Given the description of an element on the screen output the (x, y) to click on. 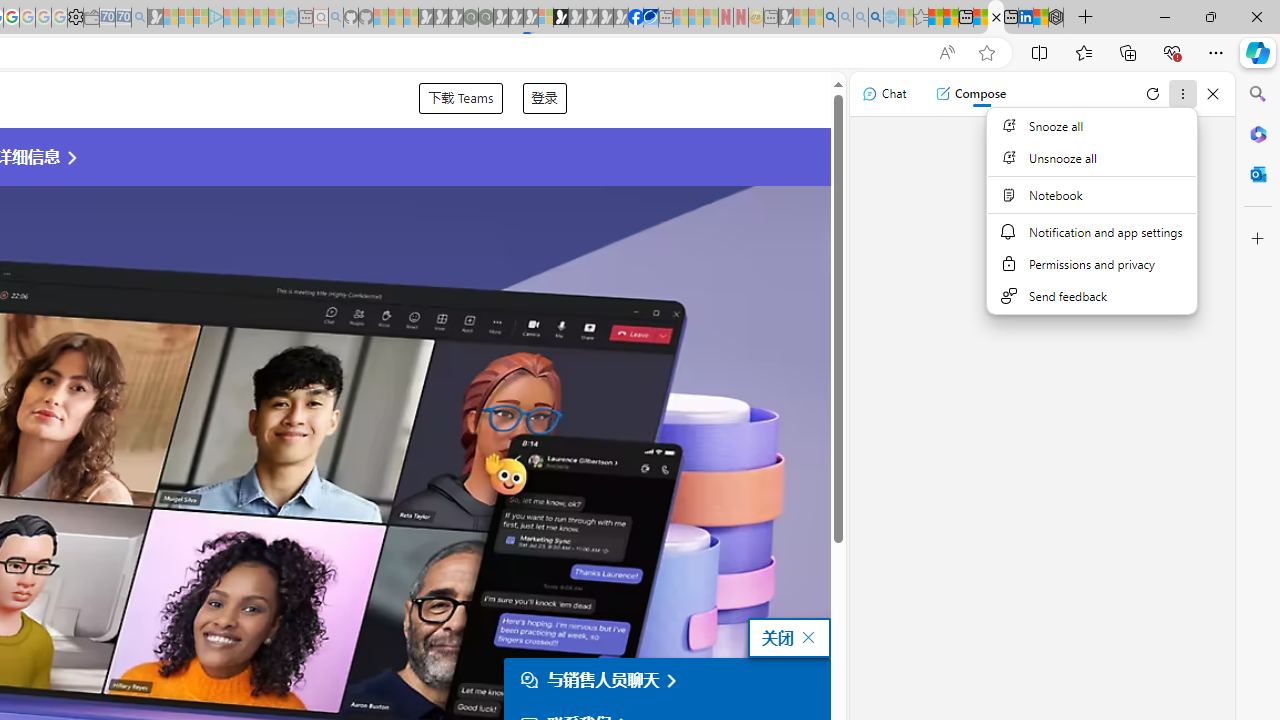
MSN - Sleeping (786, 17)
github - Search - Sleeping (336, 17)
